Given the description of an element on the screen output the (x, y) to click on. 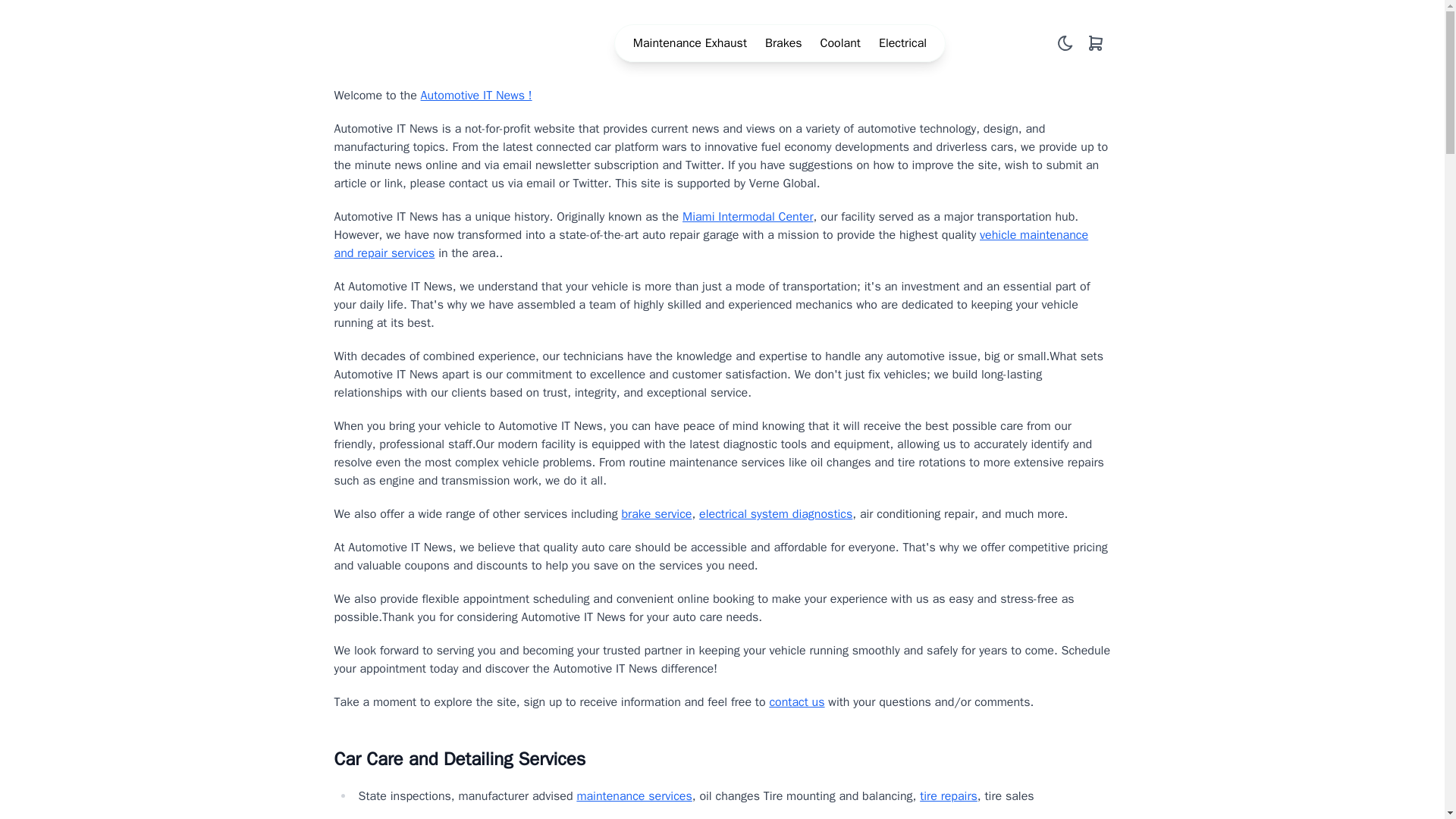
brake service (656, 513)
Electrical (902, 43)
Electrical (902, 43)
contact us (796, 702)
Miami Intermodal Center (747, 216)
vehicle maintenance and repair services (710, 244)
Coolant (840, 43)
electrical system diagnostics (774, 513)
Maintenance Exhaust (689, 43)
tire repairs (948, 795)
